Given the description of an element on the screen output the (x, y) to click on. 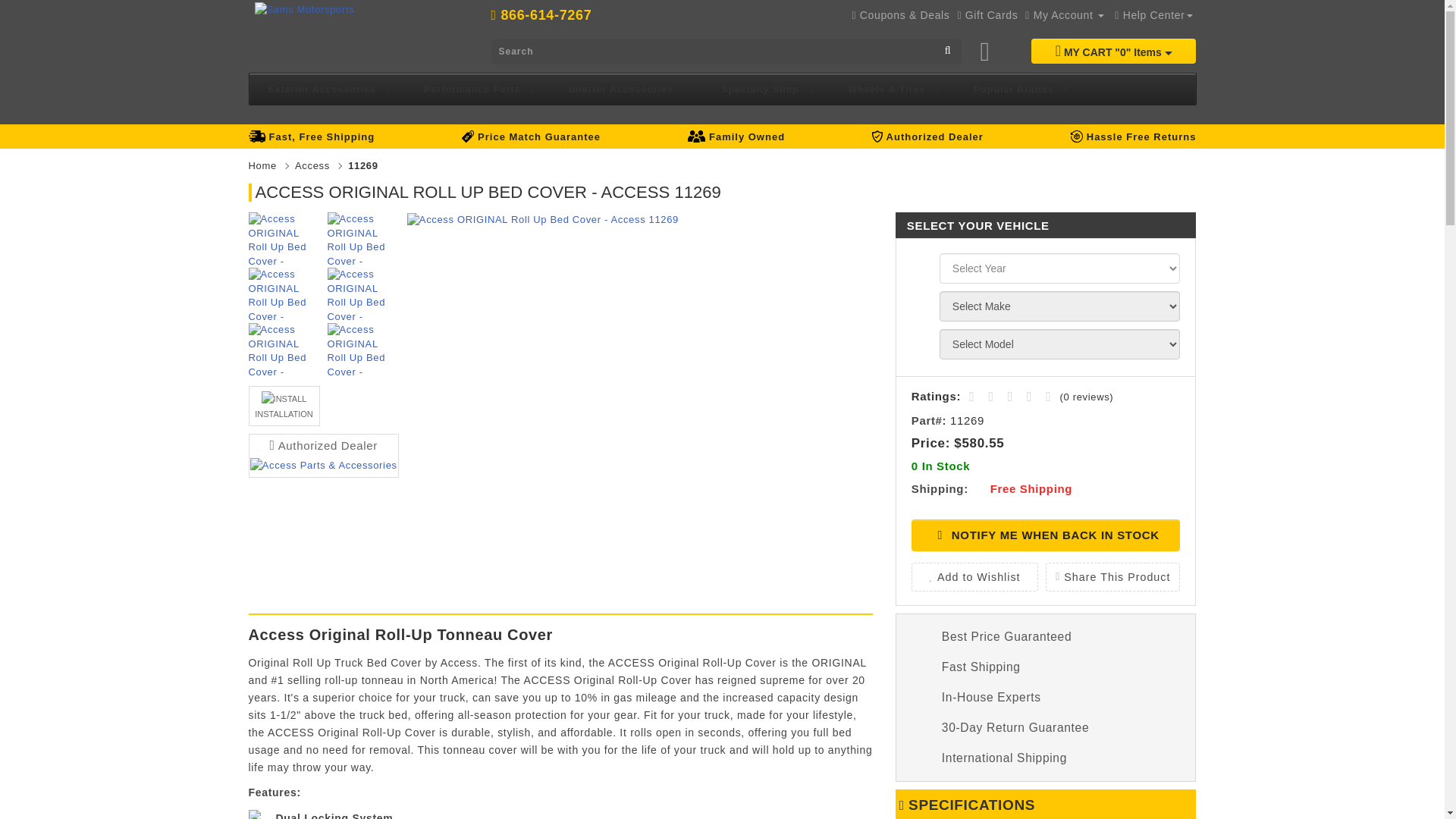
Gift Cards (986, 15)
Sams Motorsports (358, 9)
Exterior Accessories (329, 89)
Help Center (1153, 15)
Gift Cards (986, 15)
My Account (1064, 15)
My Account (1064, 15)
866-614-7267 (545, 14)
Help Center (1153, 15)
MY CART "0" Items (1113, 50)
